Given the description of an element on the screen output the (x, y) to click on. 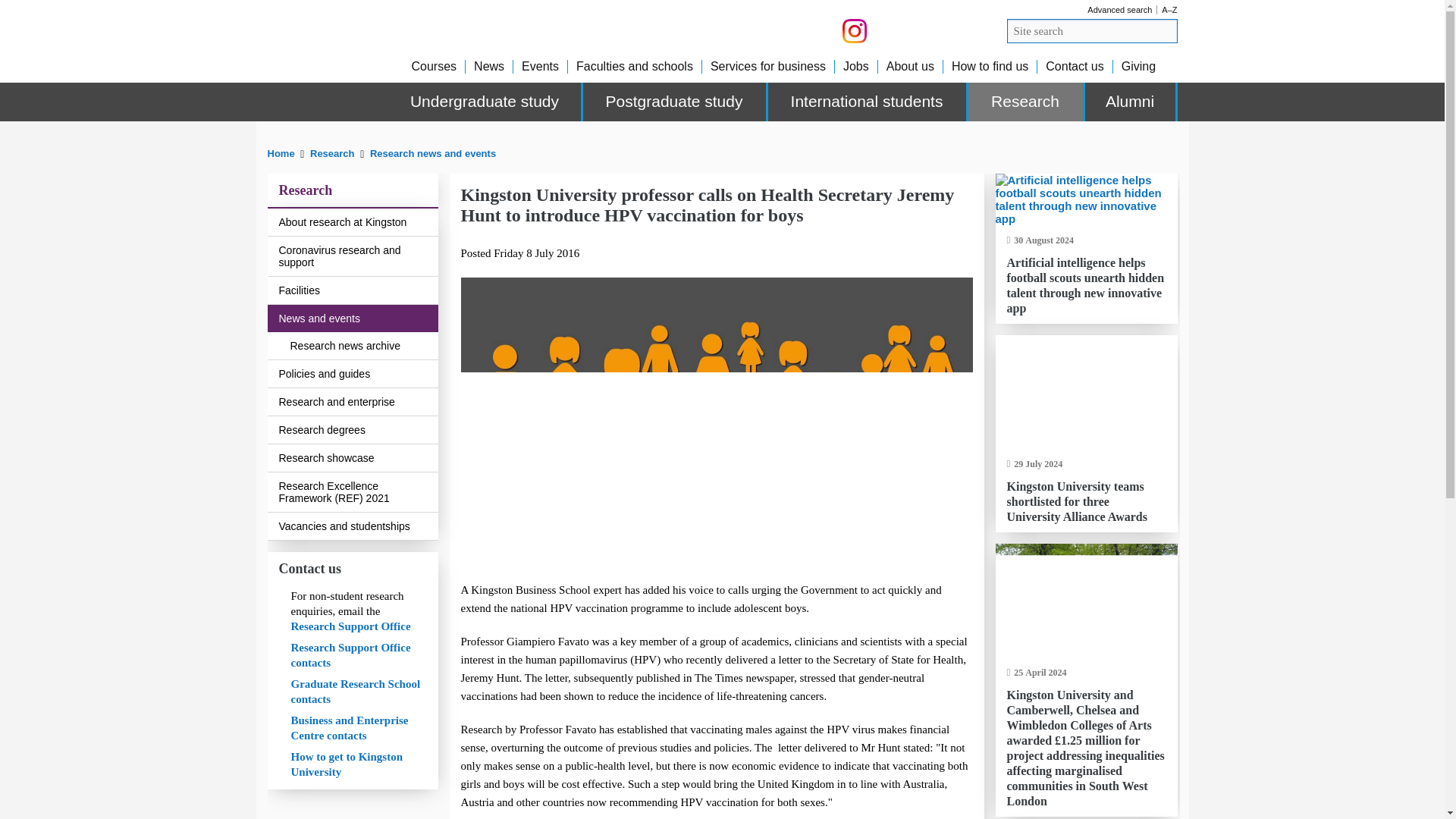
Twitter (1151, 145)
Information on courses at Kingston University London (433, 65)
Advanced search (1119, 9)
Kingston University London (327, 75)
Faculties and schools (634, 65)
YouTube (885, 30)
Events (540, 65)
Search (1166, 30)
